Given the description of an element on the screen output the (x, y) to click on. 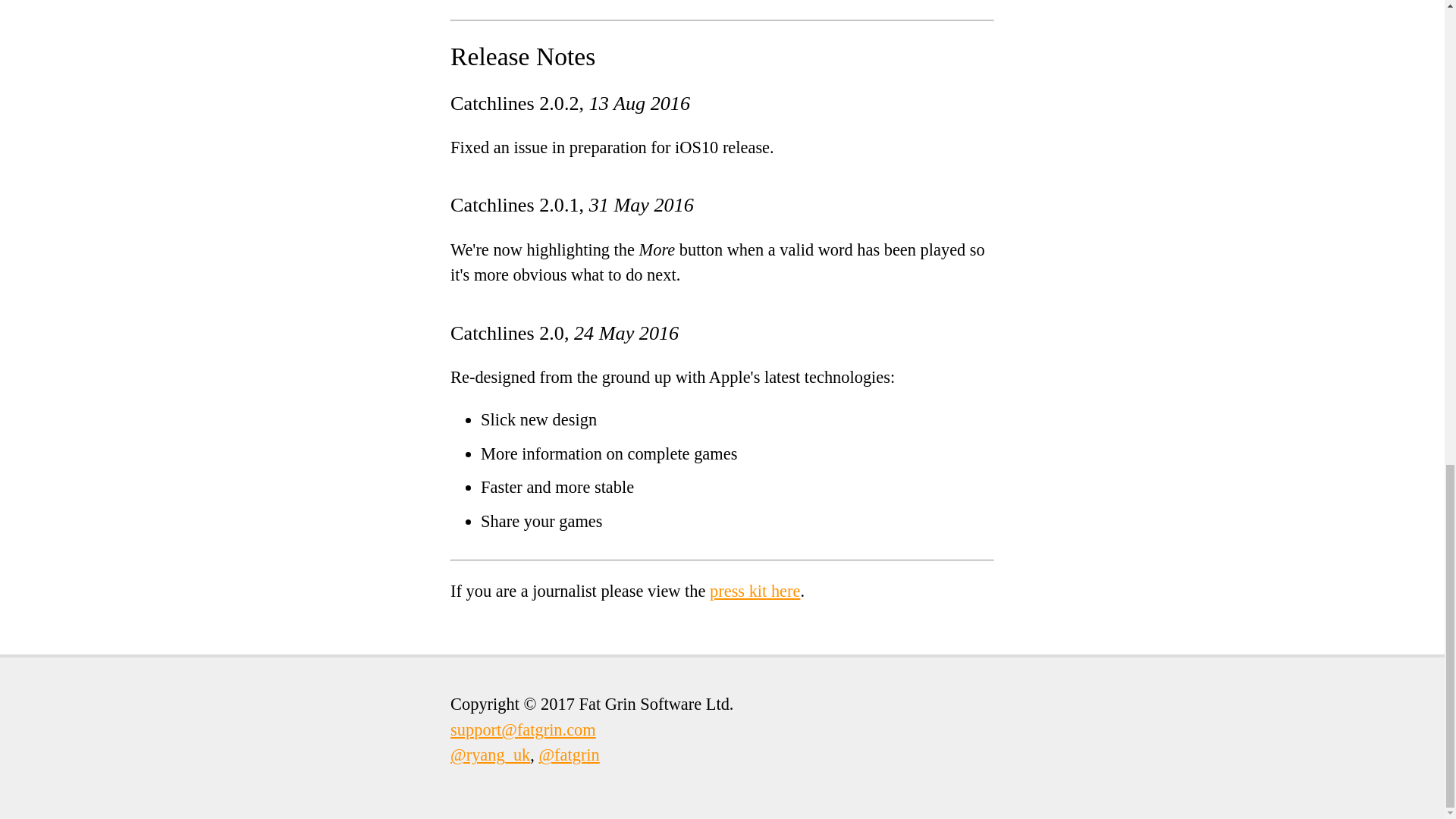
press kit here (754, 590)
Catchlines Press Kit (754, 590)
